Given the description of an element on the screen output the (x, y) to click on. 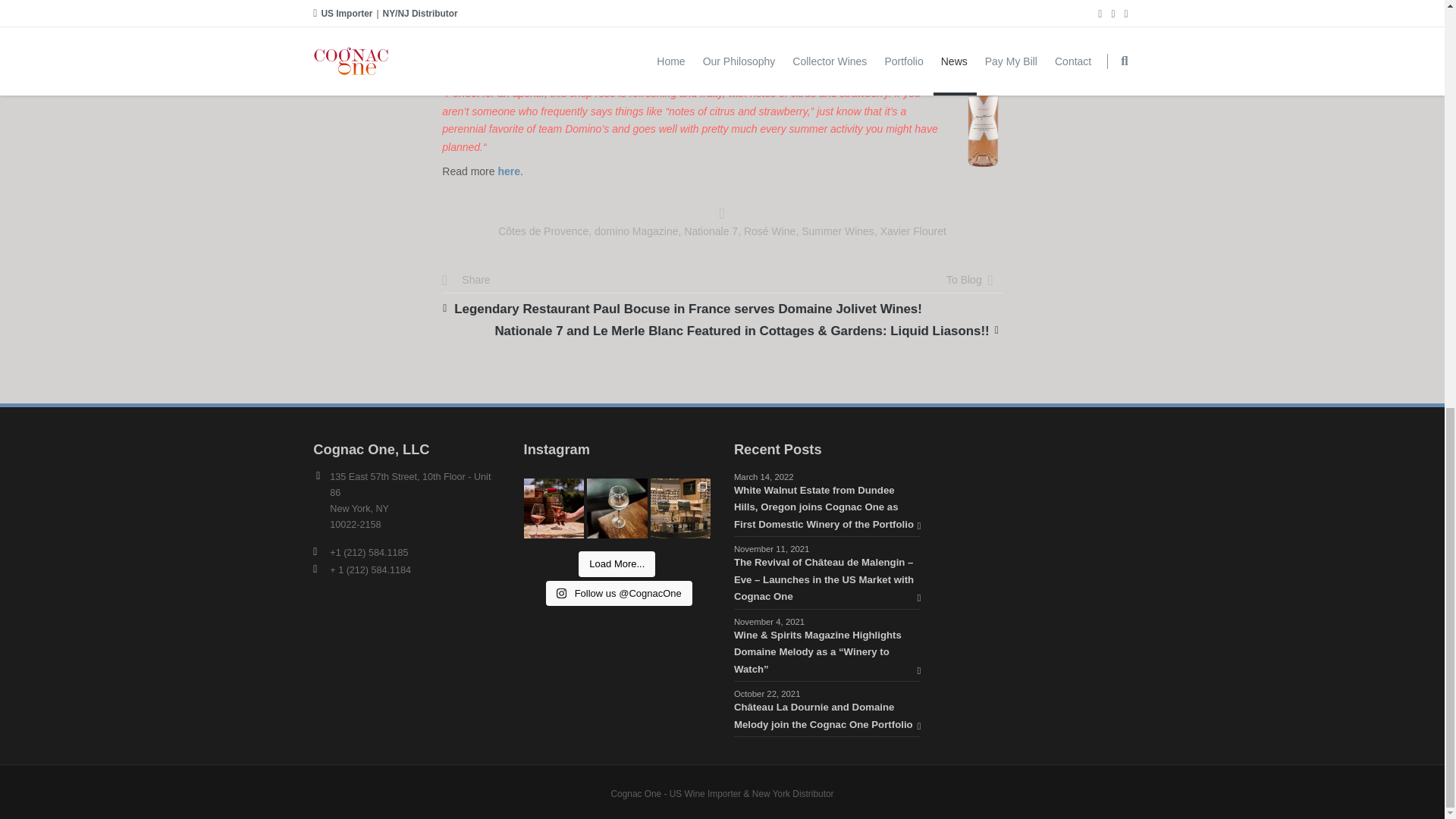
domino Magazine (636, 231)
Load More... (616, 564)
here (508, 171)
Xavier Flouret (913, 231)
To Blog (963, 279)
Summer Wines (838, 231)
Nationale 7 (711, 231)
